Given the description of an element on the screen output the (x, y) to click on. 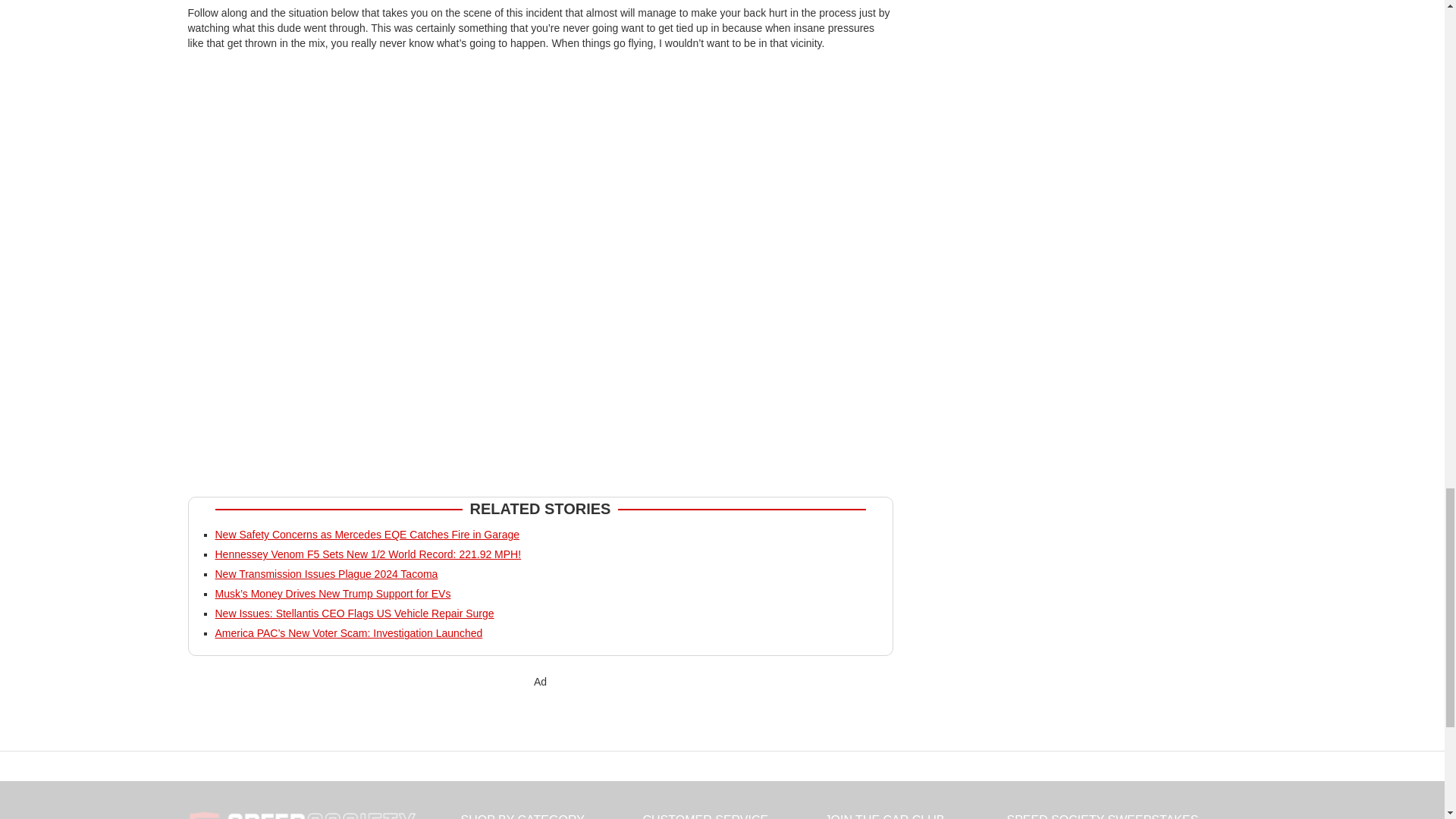
footer logo (300, 815)
New Issues: Stellantis CEO Flags US Vehicle Repair Surge (355, 613)
New Transmission Issues Plague 2024 Tacoma (326, 573)
New Safety Concerns as Mercedes EQE Catches Fire in Garage (367, 534)
